Given the description of an element on the screen output the (x, y) to click on. 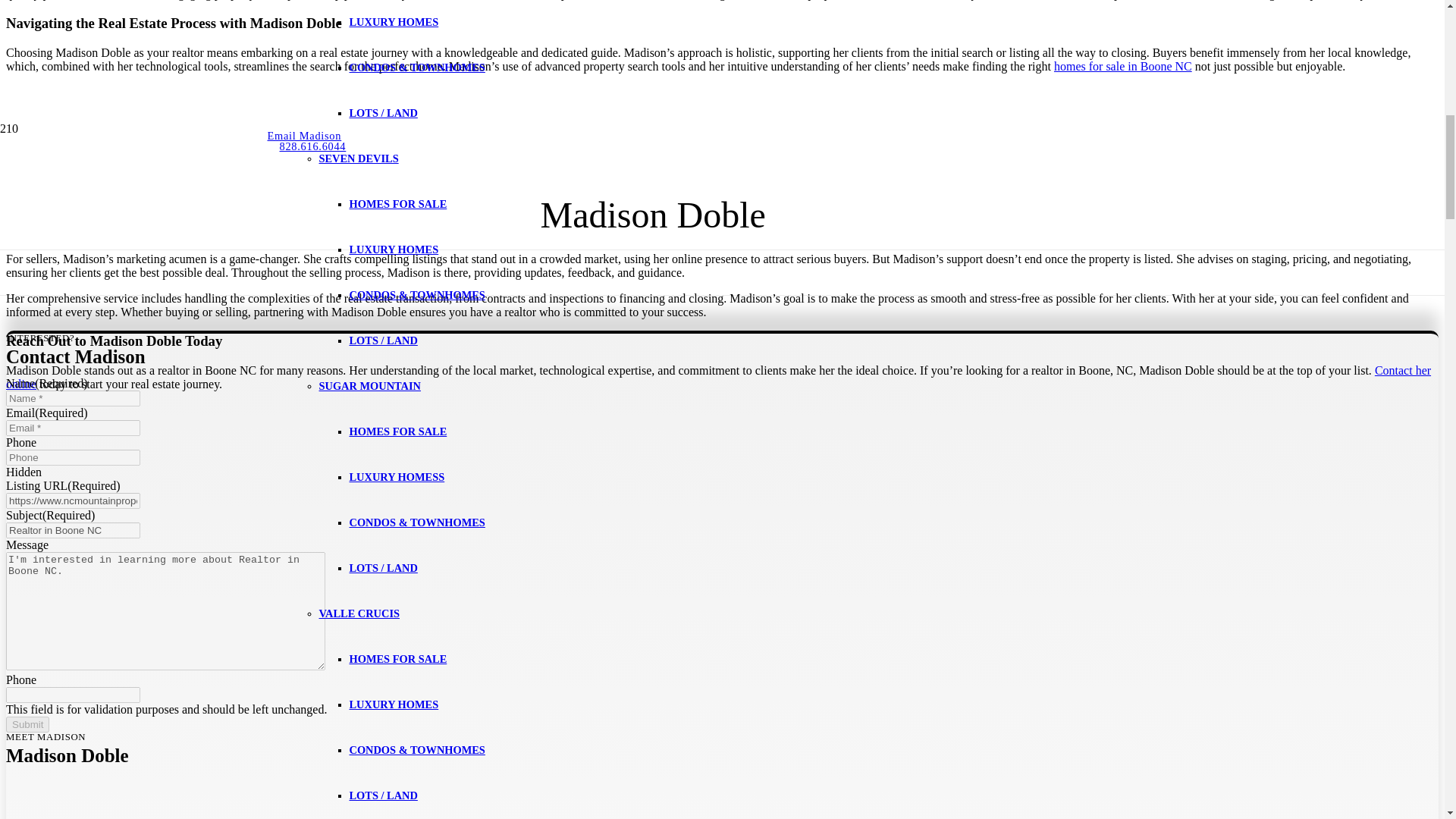
Realtor in Boone NC (72, 530)
Submit (27, 724)
